Given the description of an element on the screen output the (x, y) to click on. 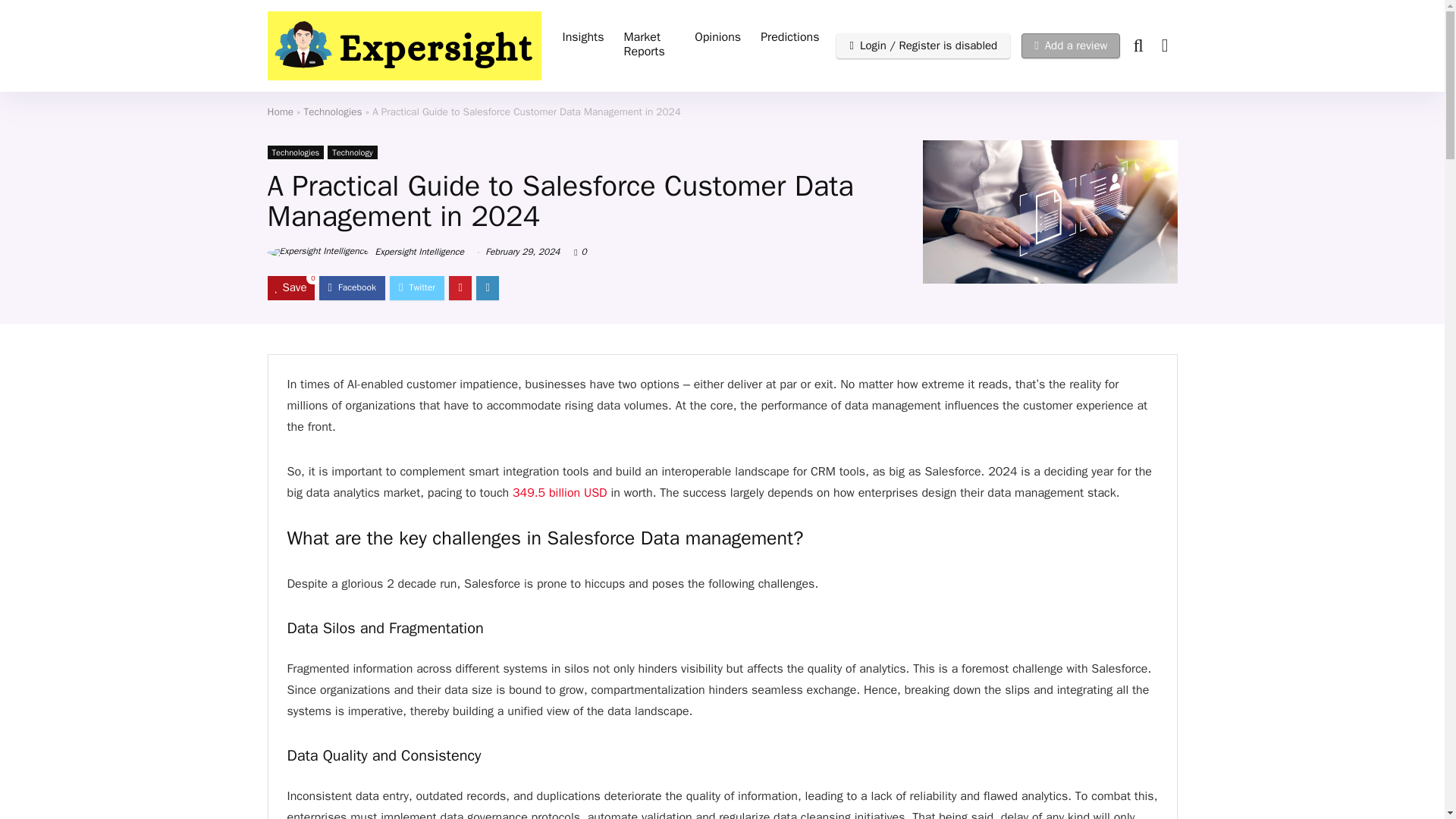
Add a review (1070, 45)
Technology (352, 151)
349.5 billion USD (559, 492)
Predictions (789, 38)
0 (583, 251)
Opinions (717, 38)
Home (280, 111)
Insights (581, 38)
Technologies (333, 111)
Expersight Intelligence (364, 251)
View all posts in Technology (352, 151)
Market Reports (648, 45)
Technologies (294, 151)
View all posts in Technologies (294, 151)
